Given the description of an element on the screen output the (x, y) to click on. 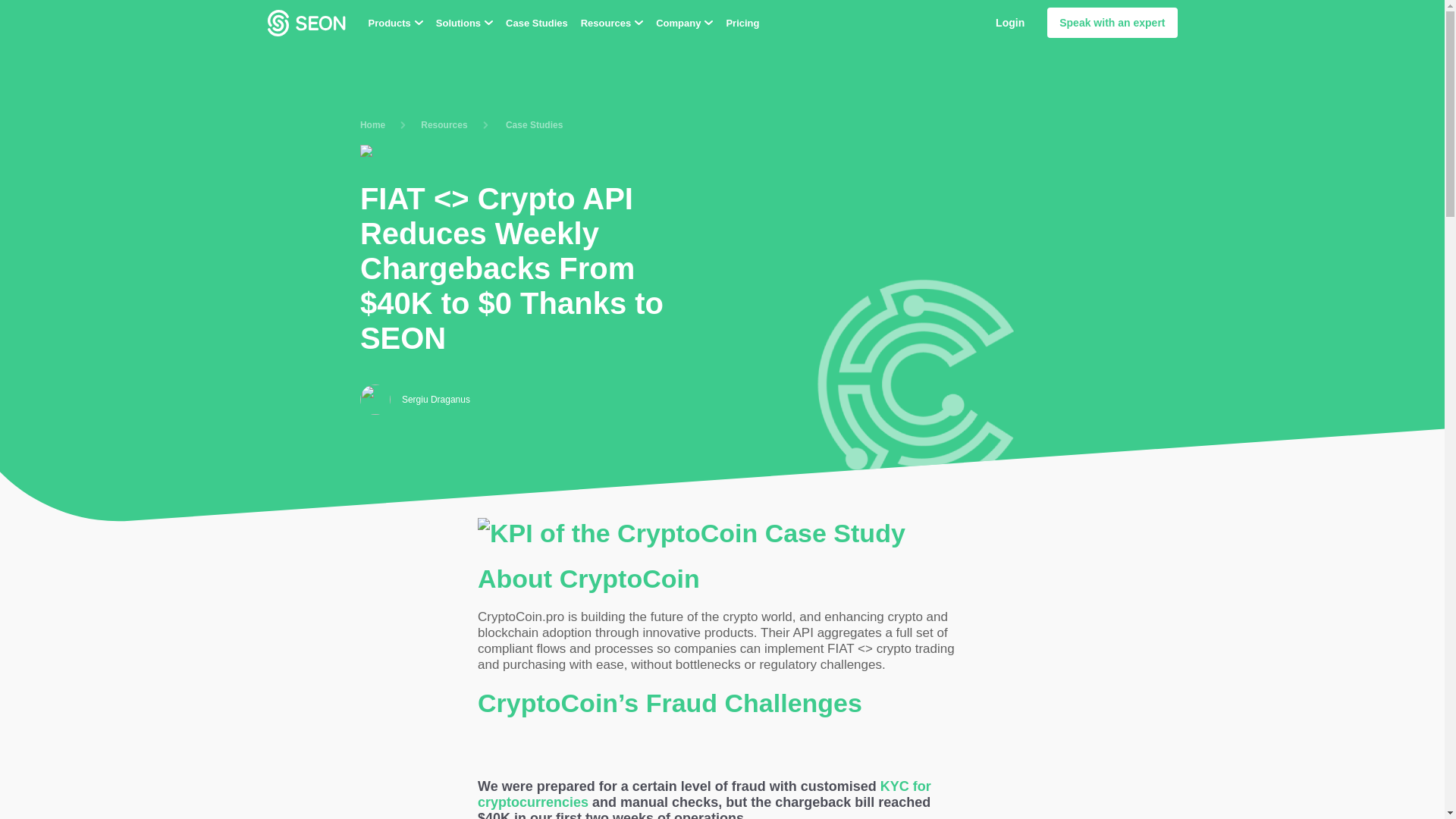
Case Studies (536, 21)
Resources (611, 21)
Pricing (741, 21)
